Given the description of an element on the screen output the (x, y) to click on. 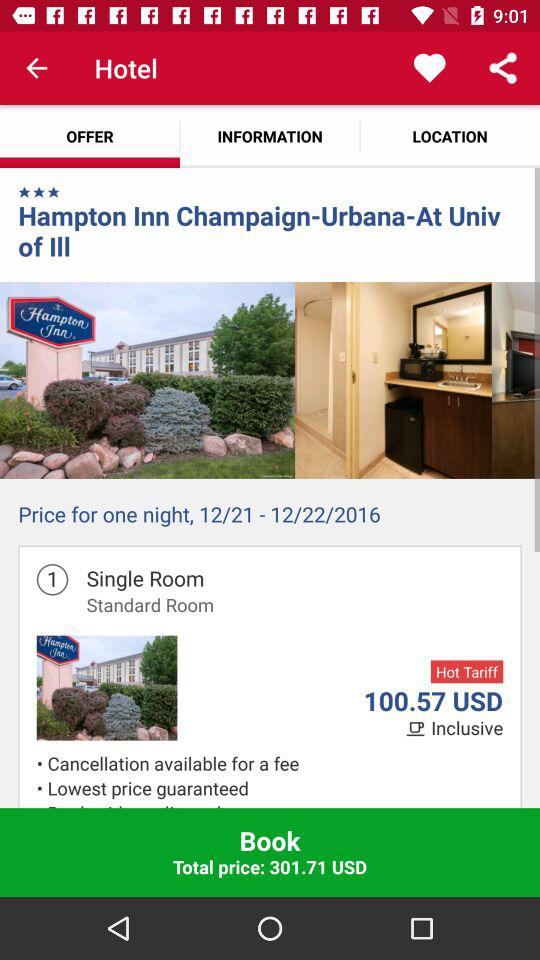
choose app above the location (503, 67)
